Given the description of an element on the screen output the (x, y) to click on. 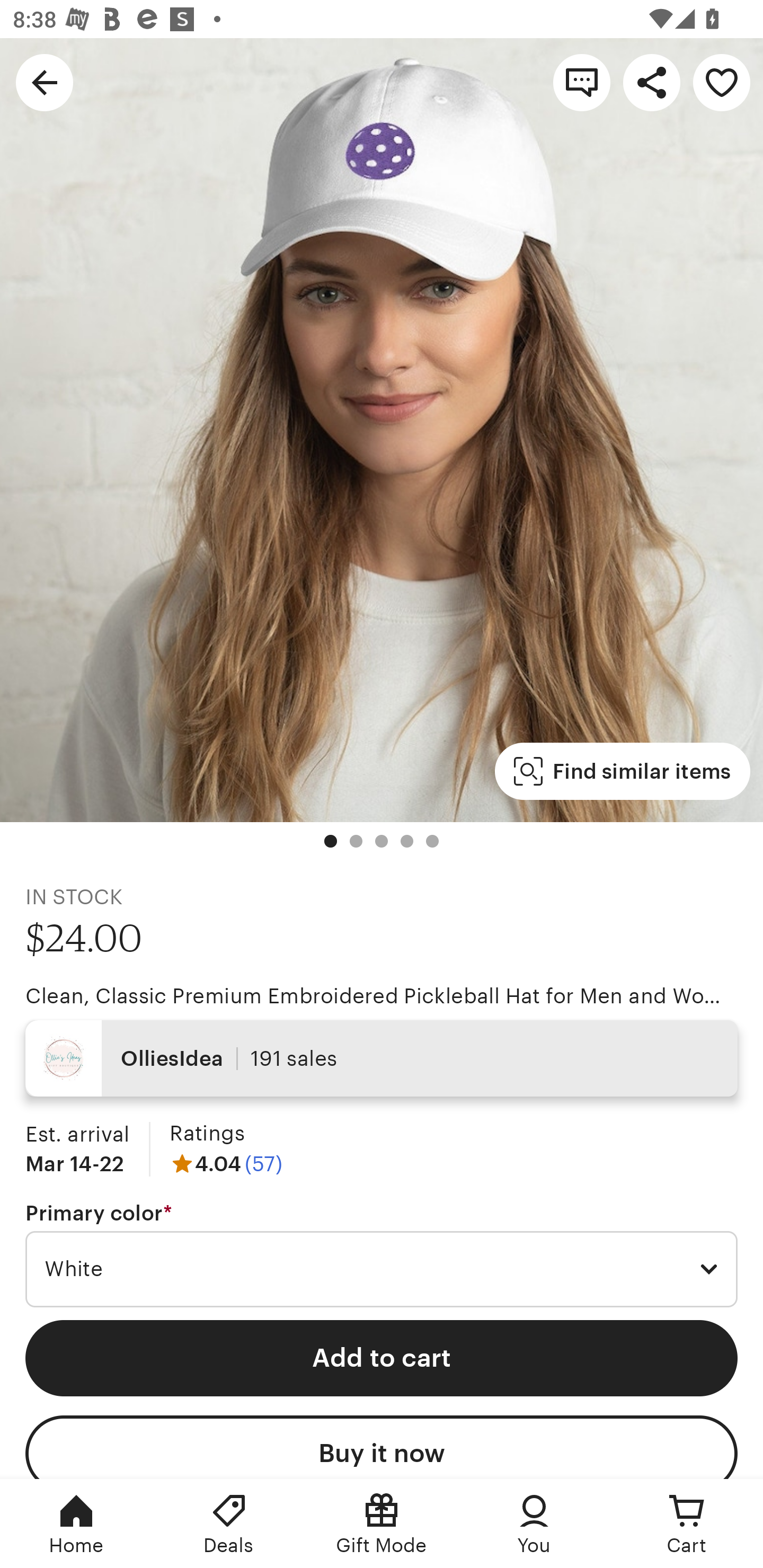
Navigate up (44, 81)
Contact shop (581, 81)
Share (651, 81)
Find similar items (622, 771)
OlliesIdea 191 sales (381, 1058)
Ratings (206, 1133)
4.04 (57) (226, 1163)
Primary color * Required White (381, 1254)
White (381, 1268)
Add to cart (381, 1358)
Buy it now (381, 1446)
Deals (228, 1523)
Gift Mode (381, 1523)
You (533, 1523)
Cart (686, 1523)
